Given the description of an element on the screen output the (x, y) to click on. 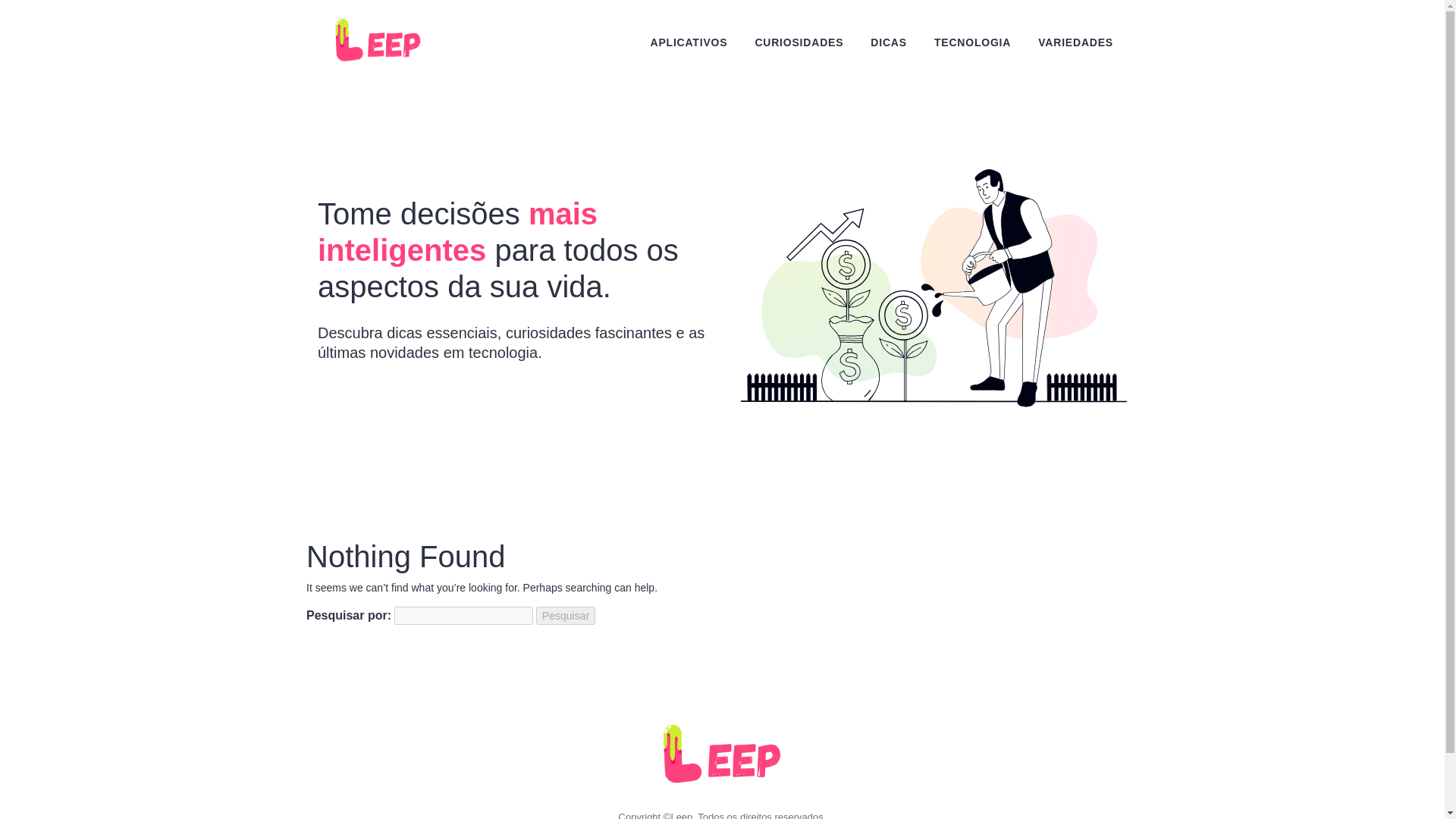
DICAS (888, 41)
CURIOSIDADES (798, 41)
Pesquisar (565, 615)
TECNOLOGIA (972, 41)
APLICATIVOS (688, 41)
VARIEDADES (1075, 41)
Pesquisar (565, 615)
